Given the description of an element on the screen output the (x, y) to click on. 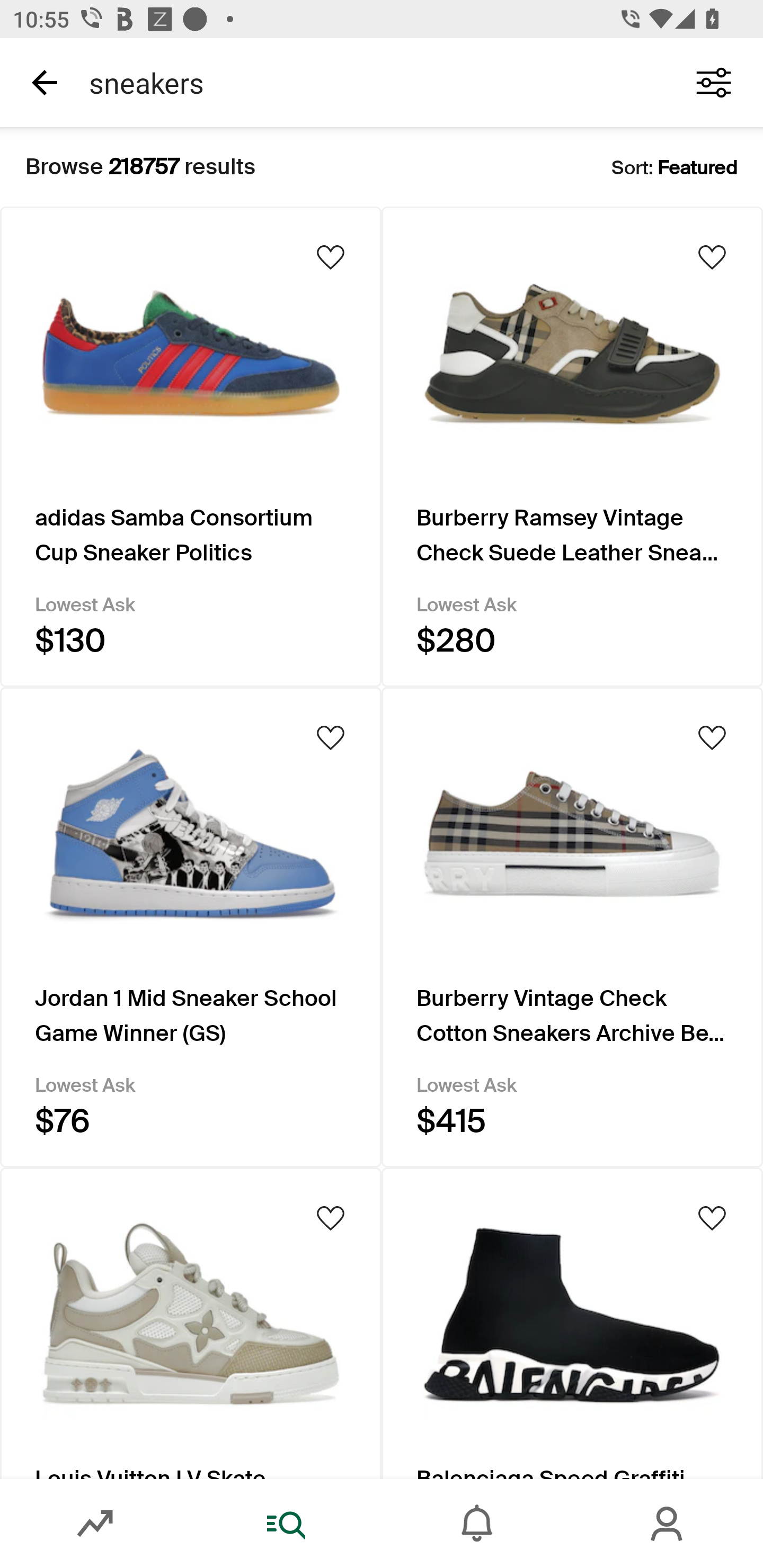
sneakers (370, 82)
Market (95, 1523)
Inbox (476, 1523)
Account (667, 1523)
